Given the description of an element on the screen output the (x, y) to click on. 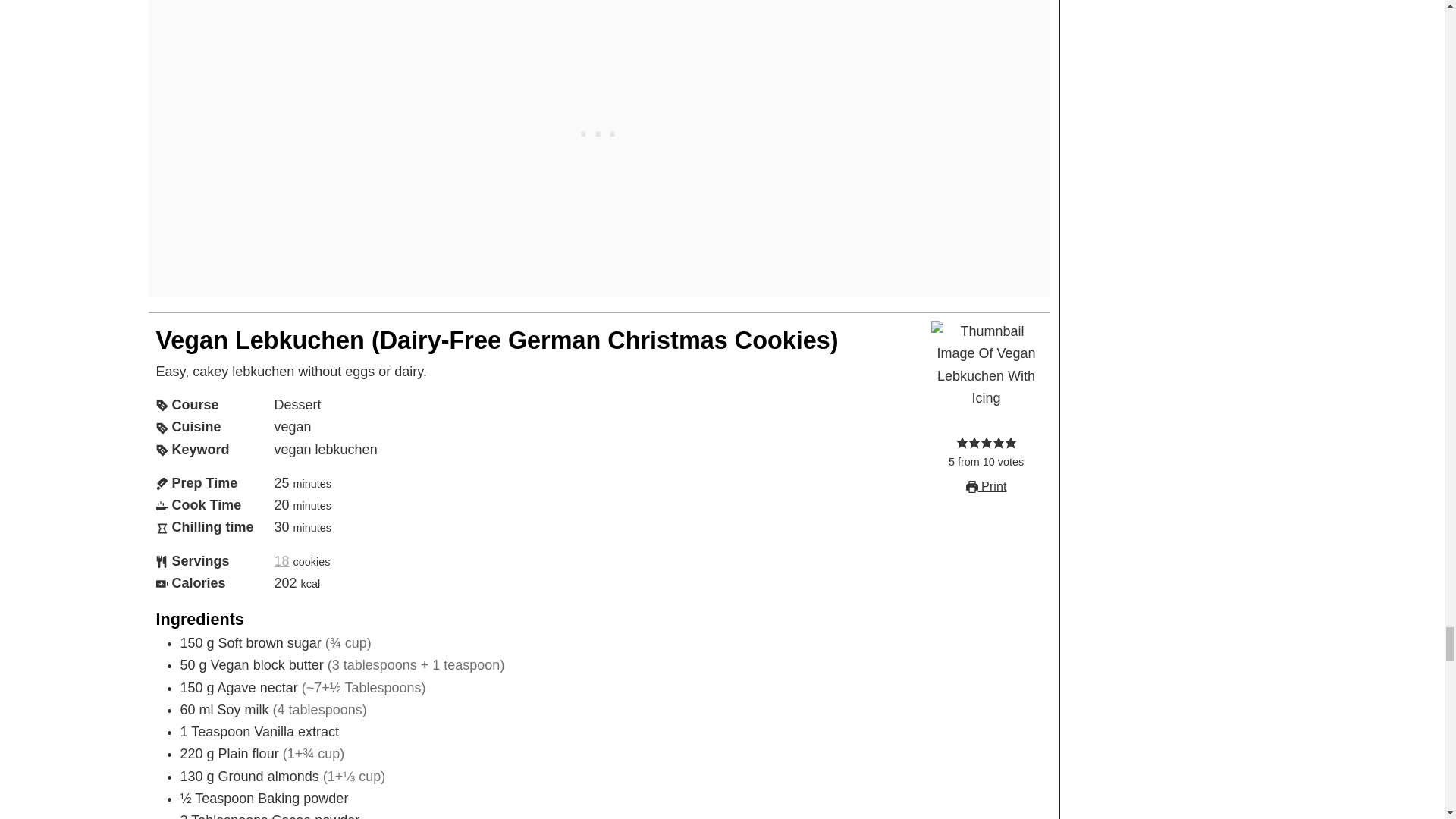
Print (986, 486)
18 (282, 560)
